Given the description of an element on the screen output the (x, y) to click on. 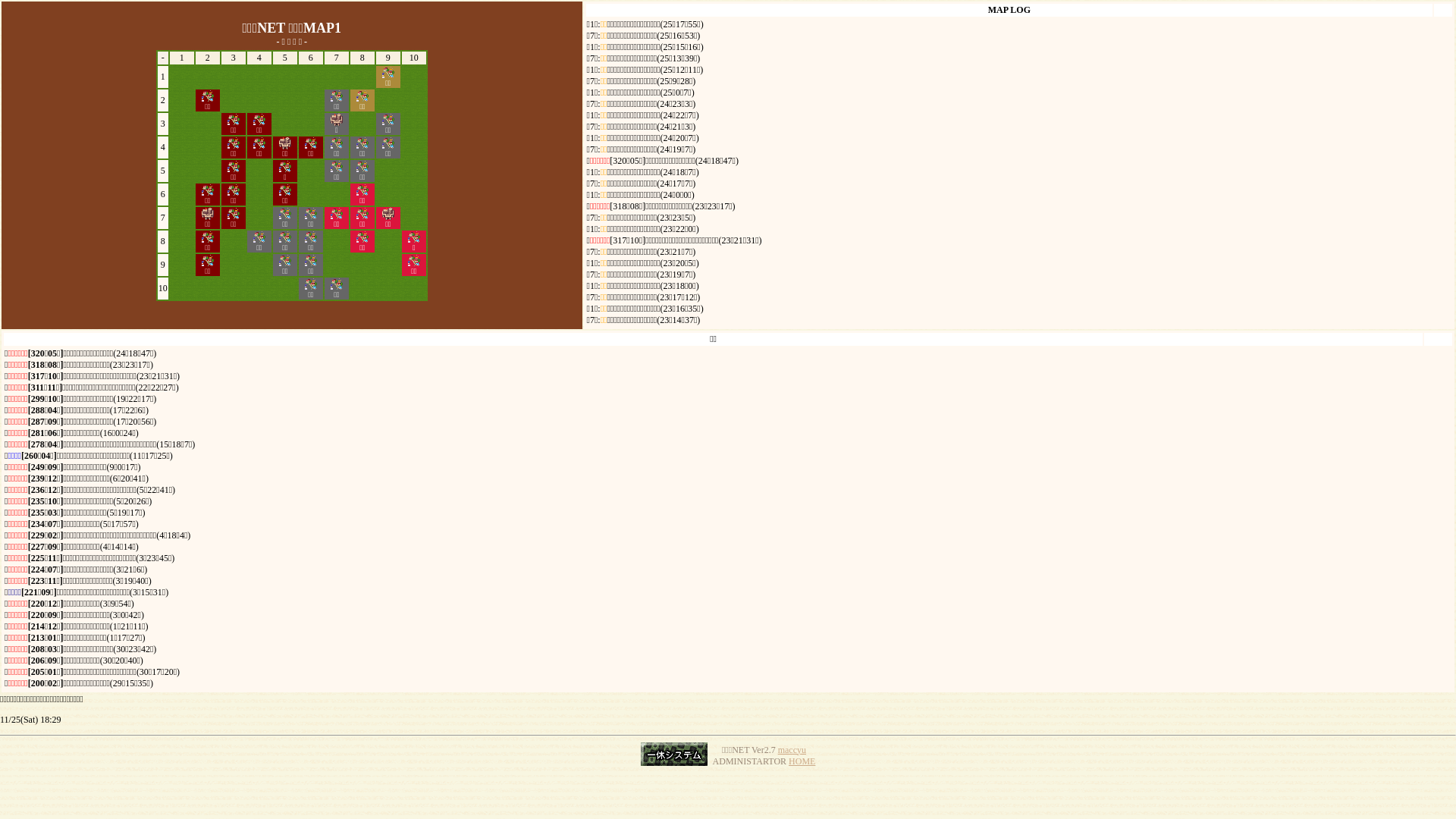
HOME Element type: text (801, 760)
maccyu Element type: text (792, 749)
